Given the description of an element on the screen output the (x, y) to click on. 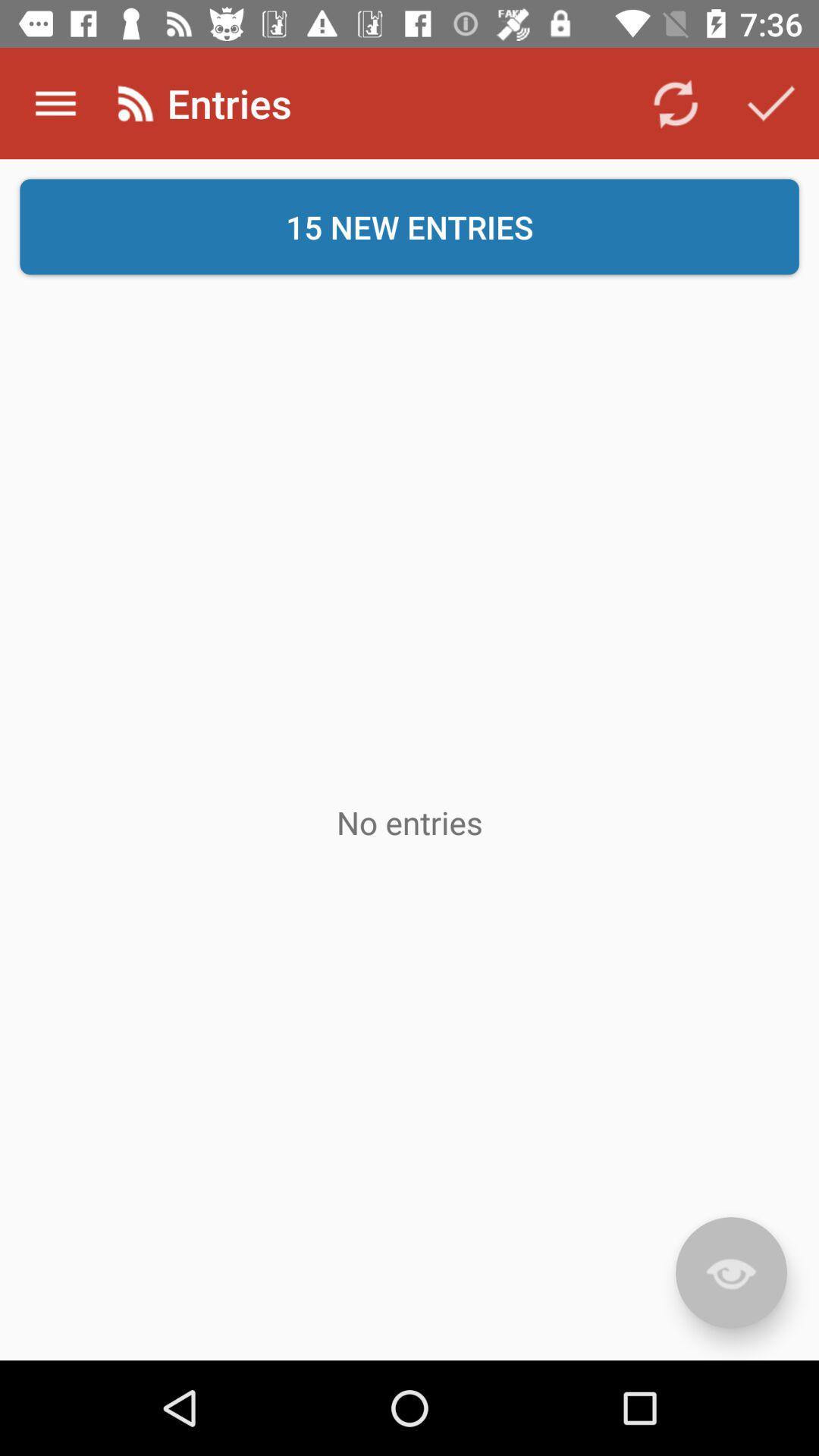
jump until no entries (409, 822)
